Given the description of an element on the screen output the (x, y) to click on. 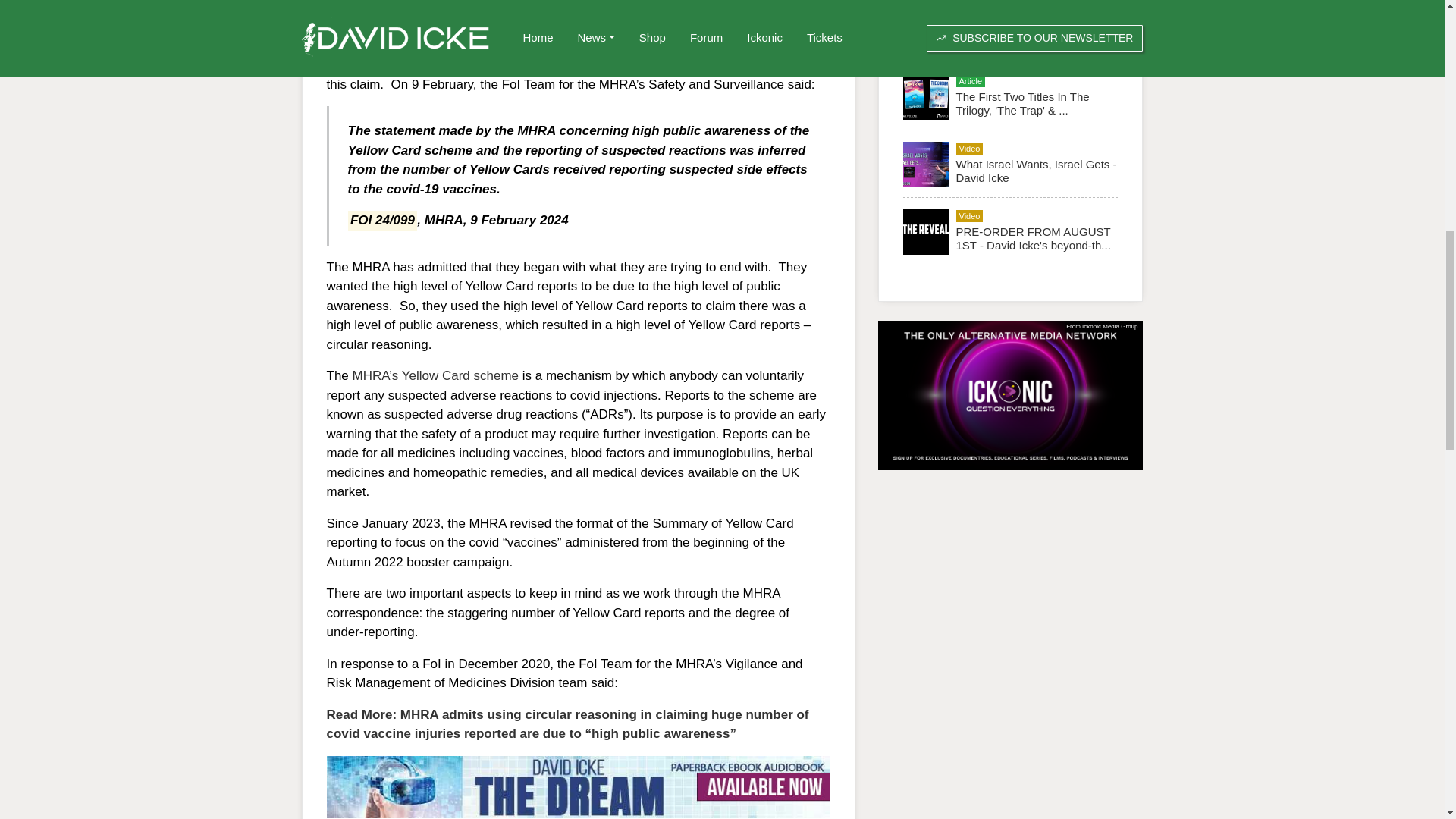
a recent article (382, 45)
What Israel Wants, Israel Gets - David Icke (1035, 171)
Stephen Feldman (483, 45)
